Given the description of an element on the screen output the (x, y) to click on. 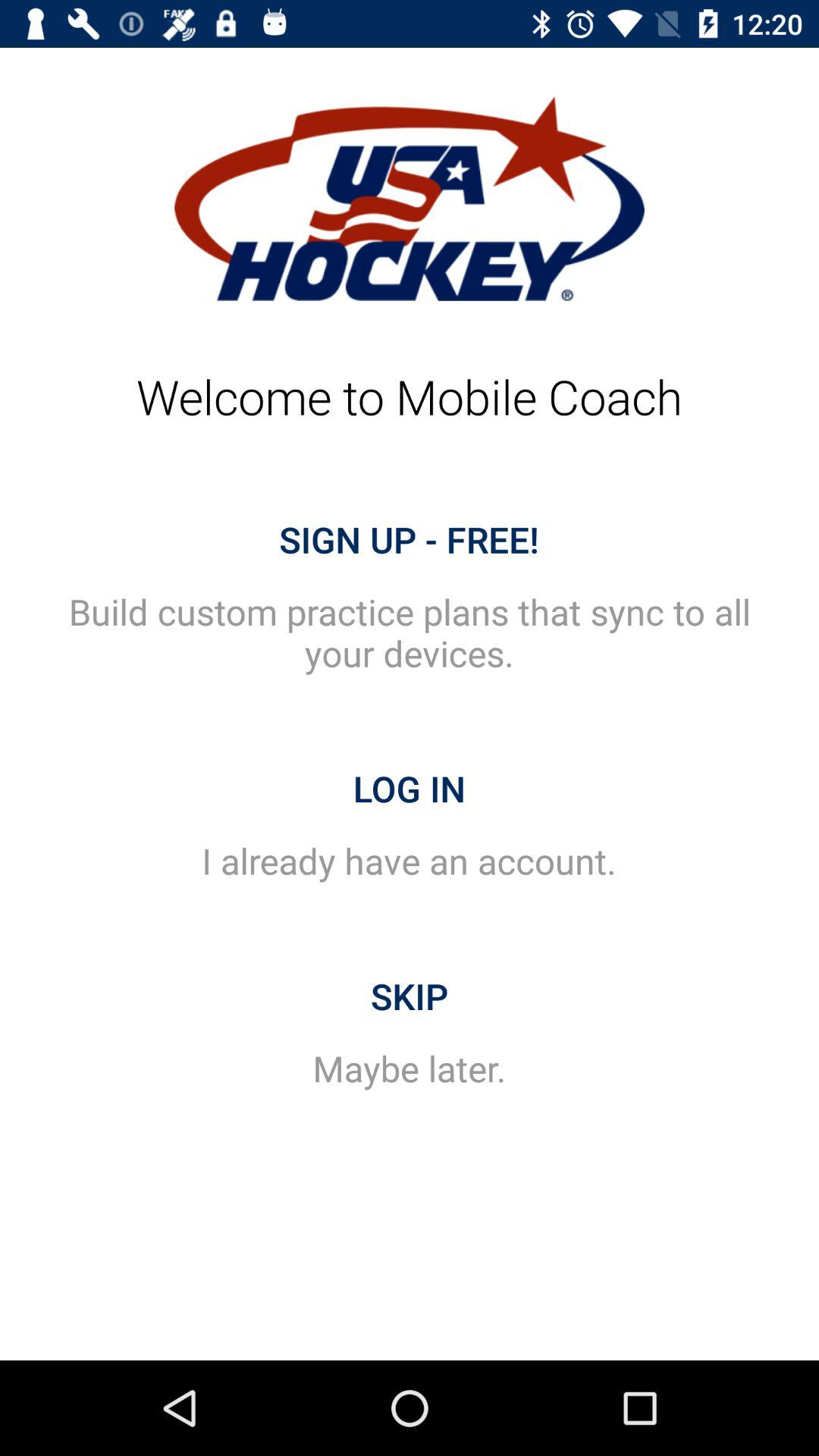
swipe to the skip item (409, 996)
